Given the description of an element on the screen output the (x, y) to click on. 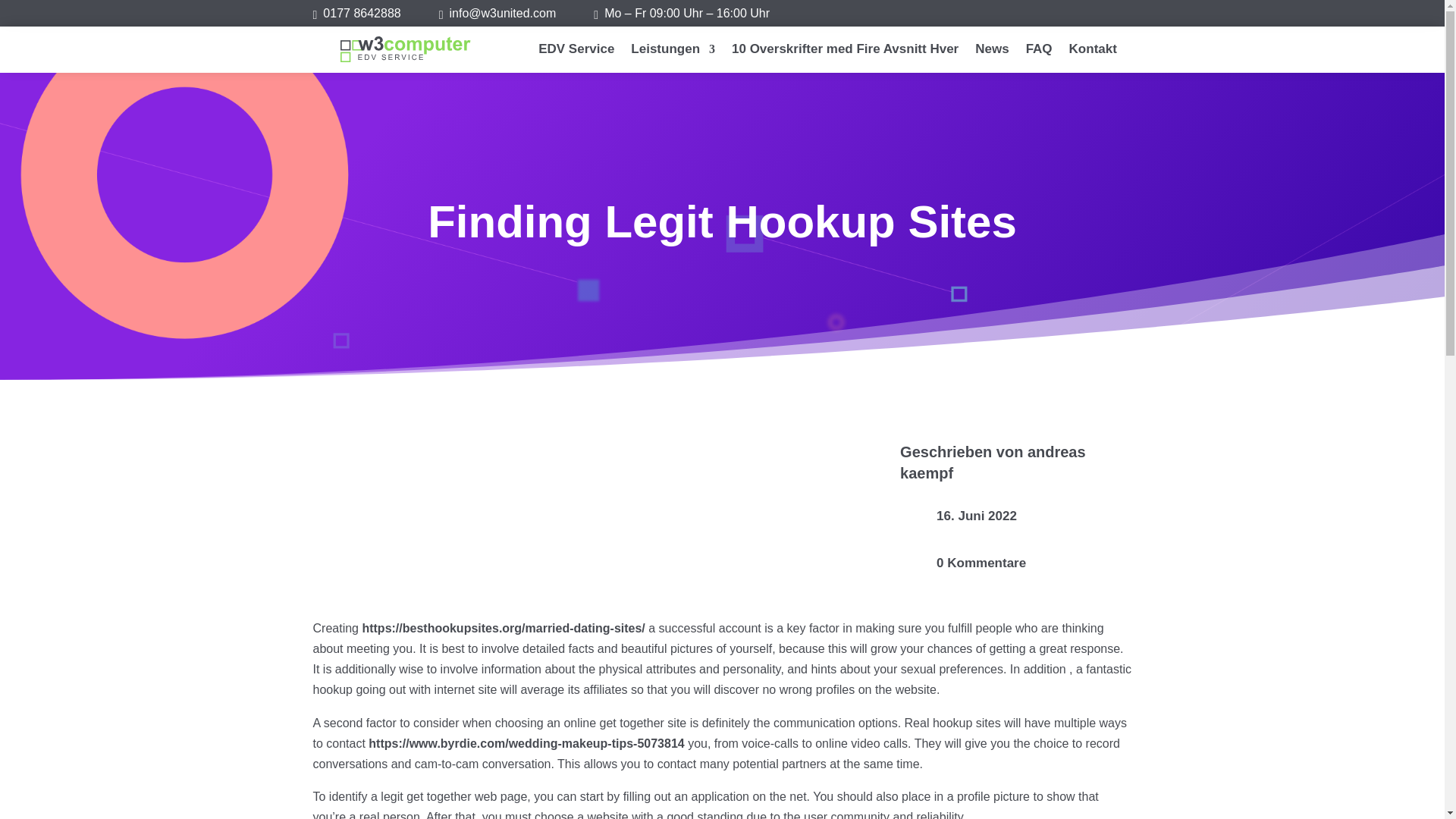
EDV Service (576, 52)
w3united Media Consulting (361, 12)
FAQ (1039, 52)
Kontakt (1092, 52)
0177 8642888 (361, 12)
w3united (502, 12)
Leistungen (672, 52)
News (992, 52)
10 Overskrifter med Fire Avsnitt Hver (845, 52)
w3computer EDV Service Koblenz (405, 49)
